Given the description of an element on the screen output the (x, y) to click on. 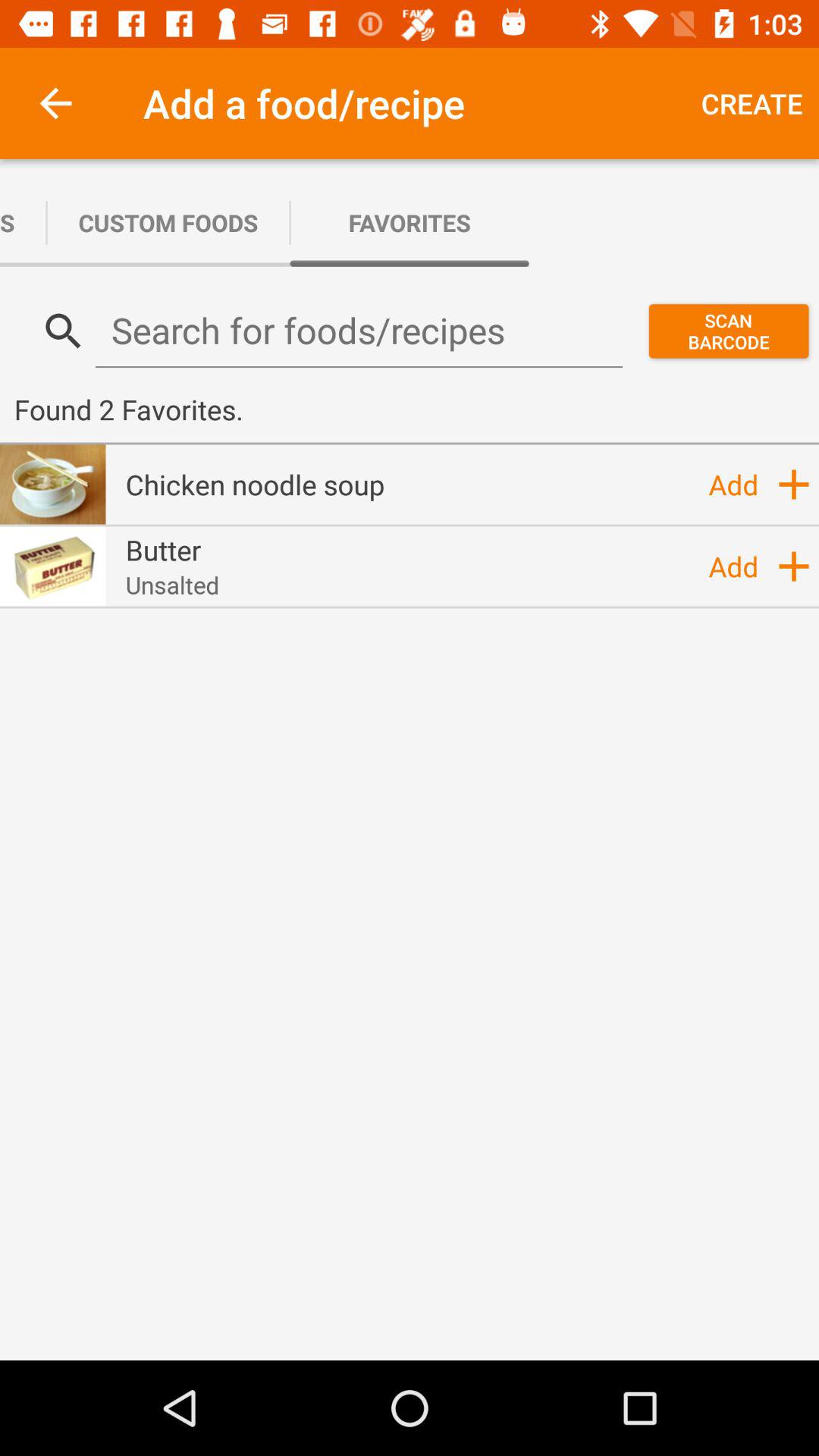
select the icon next to custom foods app (23, 222)
